Given the description of an element on the screen output the (x, y) to click on. 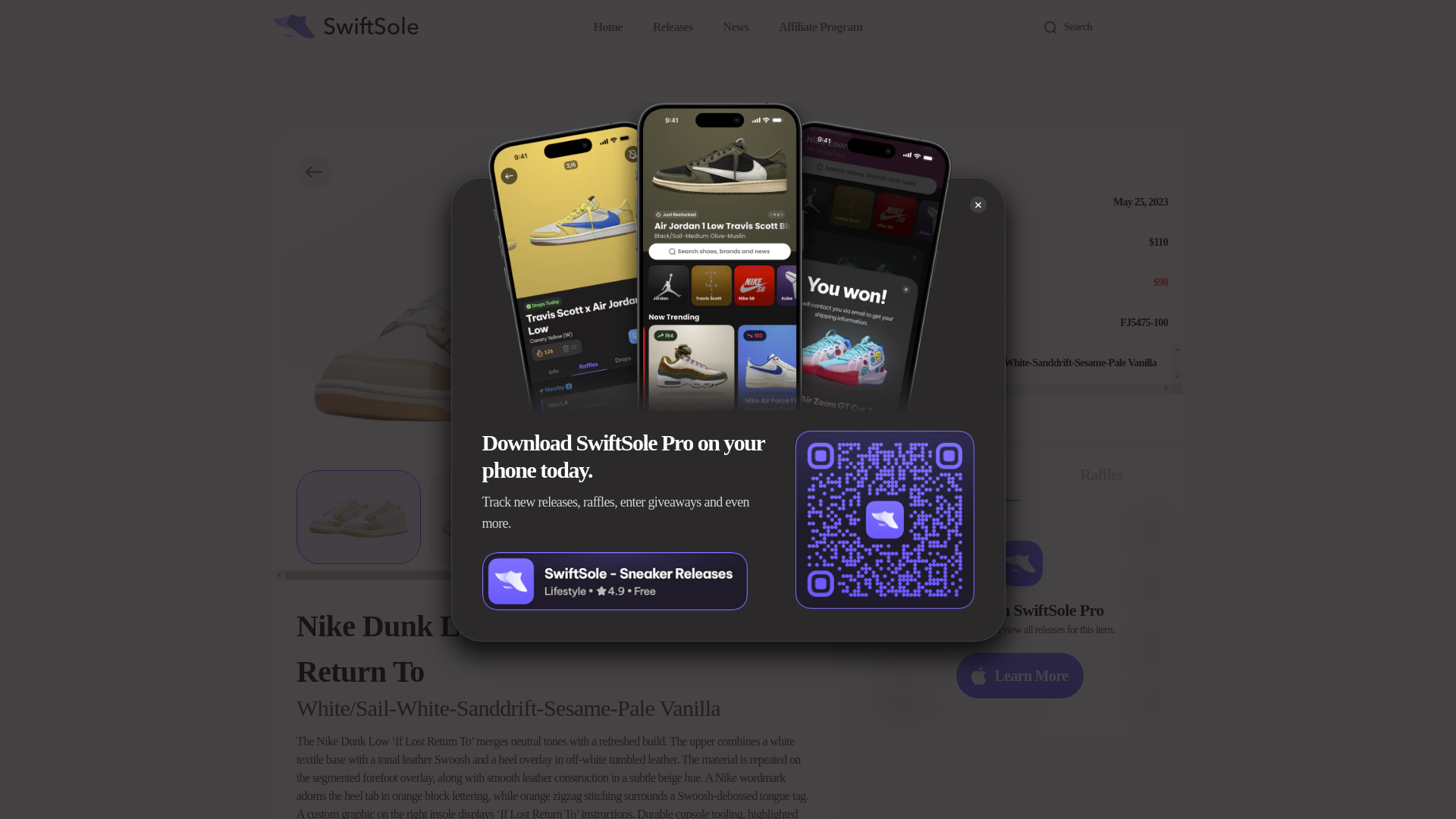
Learn More (1019, 675)
News (735, 26)
Home (608, 26)
Drops (938, 475)
Raffles (1101, 475)
Search (1106, 27)
Affiliate Program (819, 26)
Releases (672, 26)
